Given the description of an element on the screen output the (x, y) to click on. 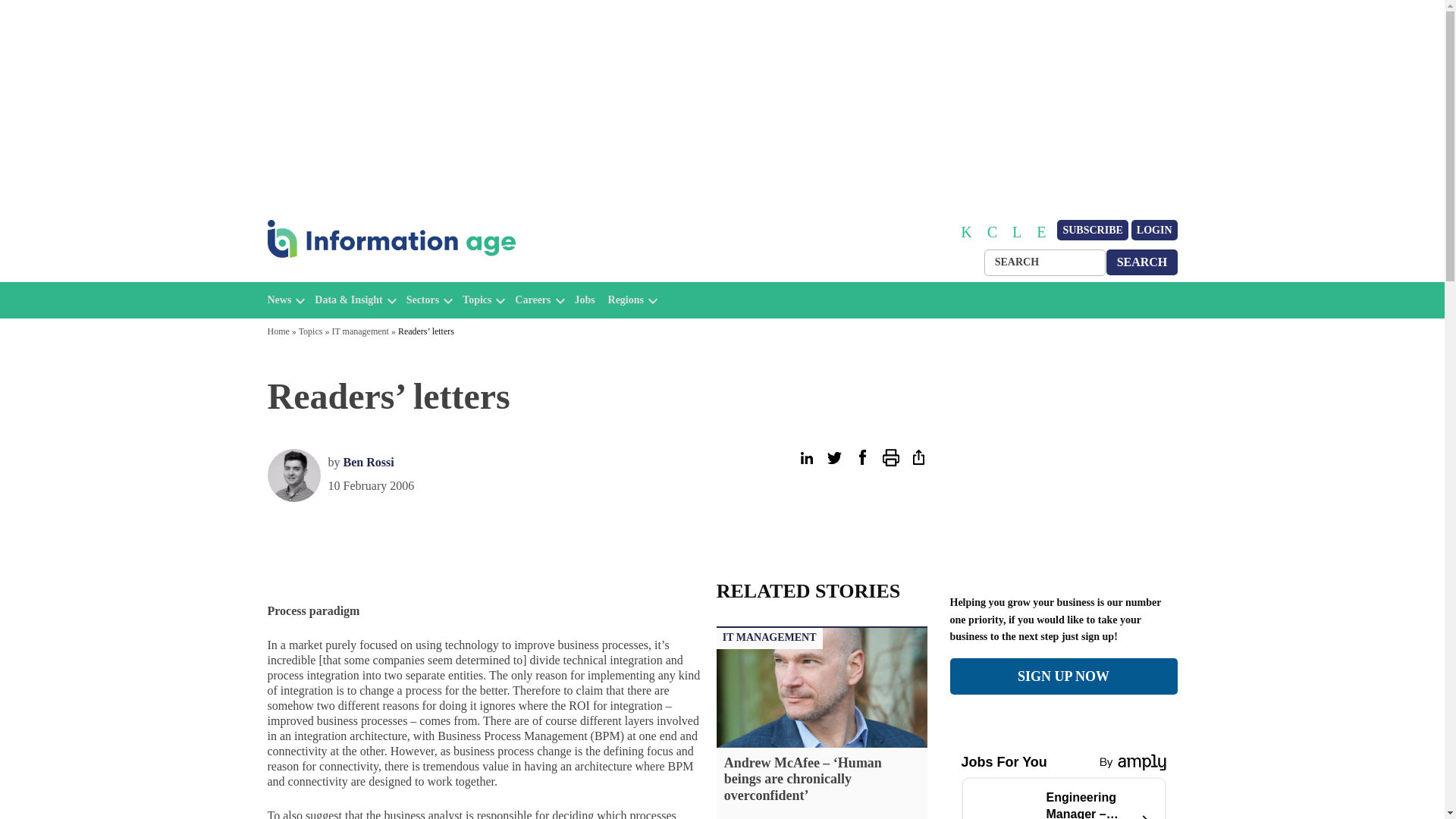
3rd party ad content (1062, 469)
SUBSCRIBE (1091, 230)
LOGIN (1154, 230)
Share on Facebook (861, 457)
SEARCH (1142, 261)
Print this article (890, 457)
Share on LinkedIn (805, 457)
Sectors (422, 299)
Tweet this article (835, 457)
Information Age (331, 275)
News (278, 299)
